Given the description of an element on the screen output the (x, y) to click on. 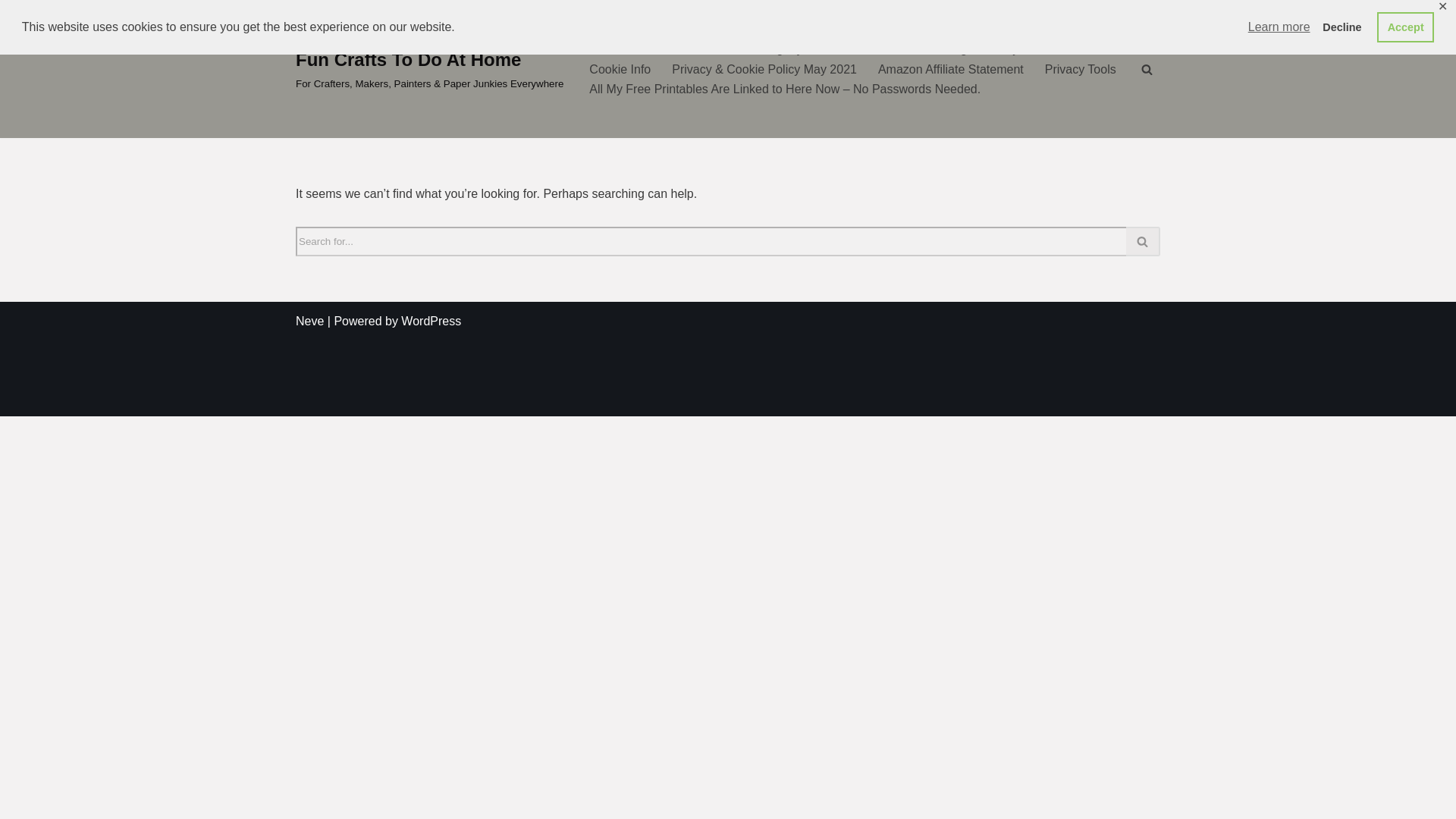
WordPress (431, 320)
Amazon Affiliate Statement (950, 68)
Accept (1405, 27)
Advertisement (727, 382)
Neve (309, 320)
About Fun Crafts (635, 48)
Cookie Info (619, 68)
Learn more (1279, 26)
Home Page (942, 48)
Privacy Tools (1080, 68)
Terms of Using My Free Printables (794, 48)
Skip to content (11, 31)
Decline (1342, 27)
